Given the description of an element on the screen output the (x, y) to click on. 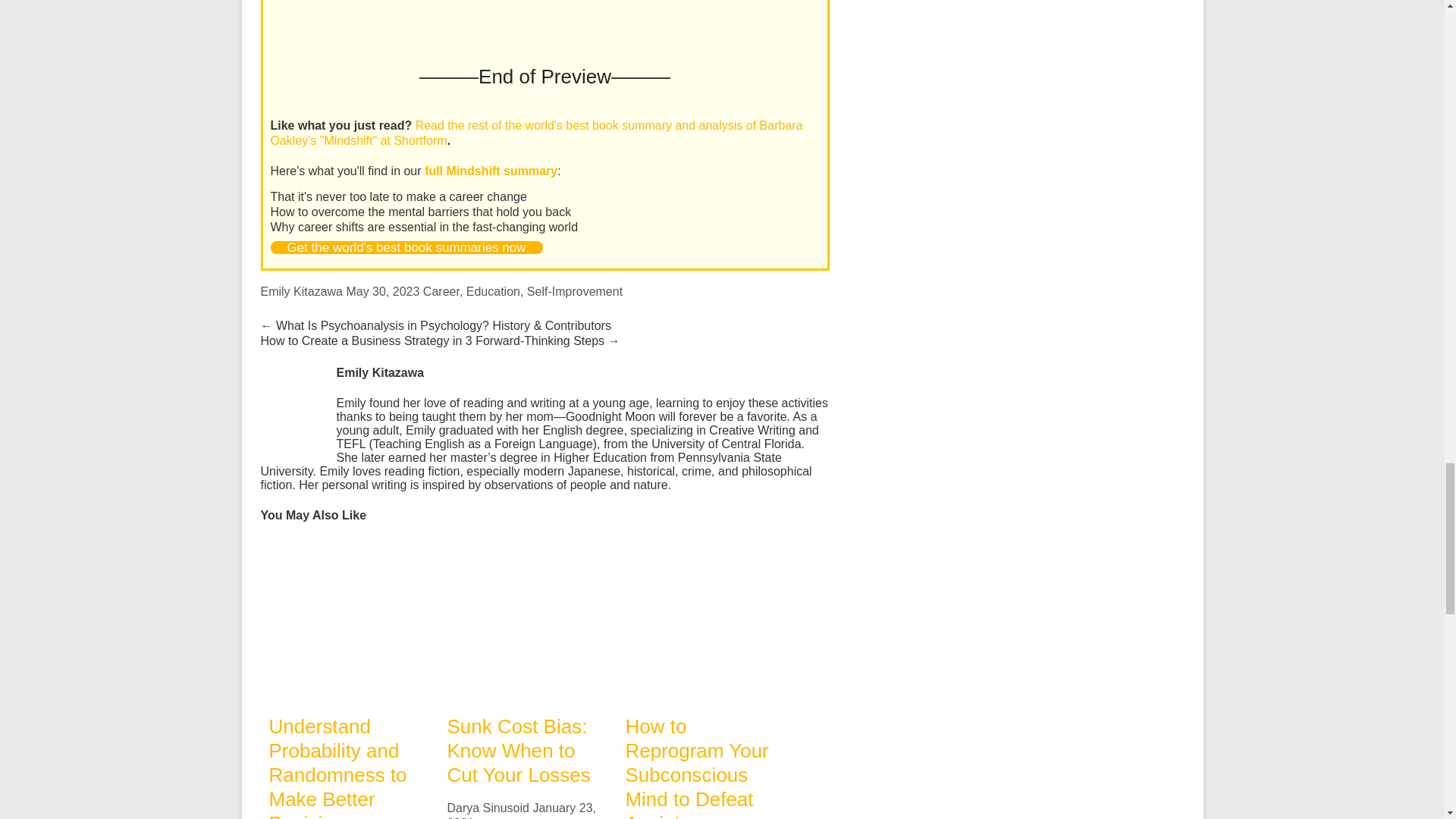
Education (492, 291)
9:27 am (520, 810)
How to Reprogram Your Subconscious Mind to Defeat Anxiety (696, 766)
Self-Improvement (575, 291)
Sunk Cost Bias: Know When to Cut Your Losses (527, 619)
4:00 pm (382, 291)
Sunk Cost Bias: Know When to Cut Your Losses (527, 545)
full Mindshift summary (491, 170)
May 30, 2023 (382, 291)
How to Reprogram Your Subconscious Mind to Defeat Anxiety (705, 545)
Career (441, 291)
How to Reprogram Your Subconscious Mind to Defeat Anxiety (705, 619)
